Given the description of an element on the screen output the (x, y) to click on. 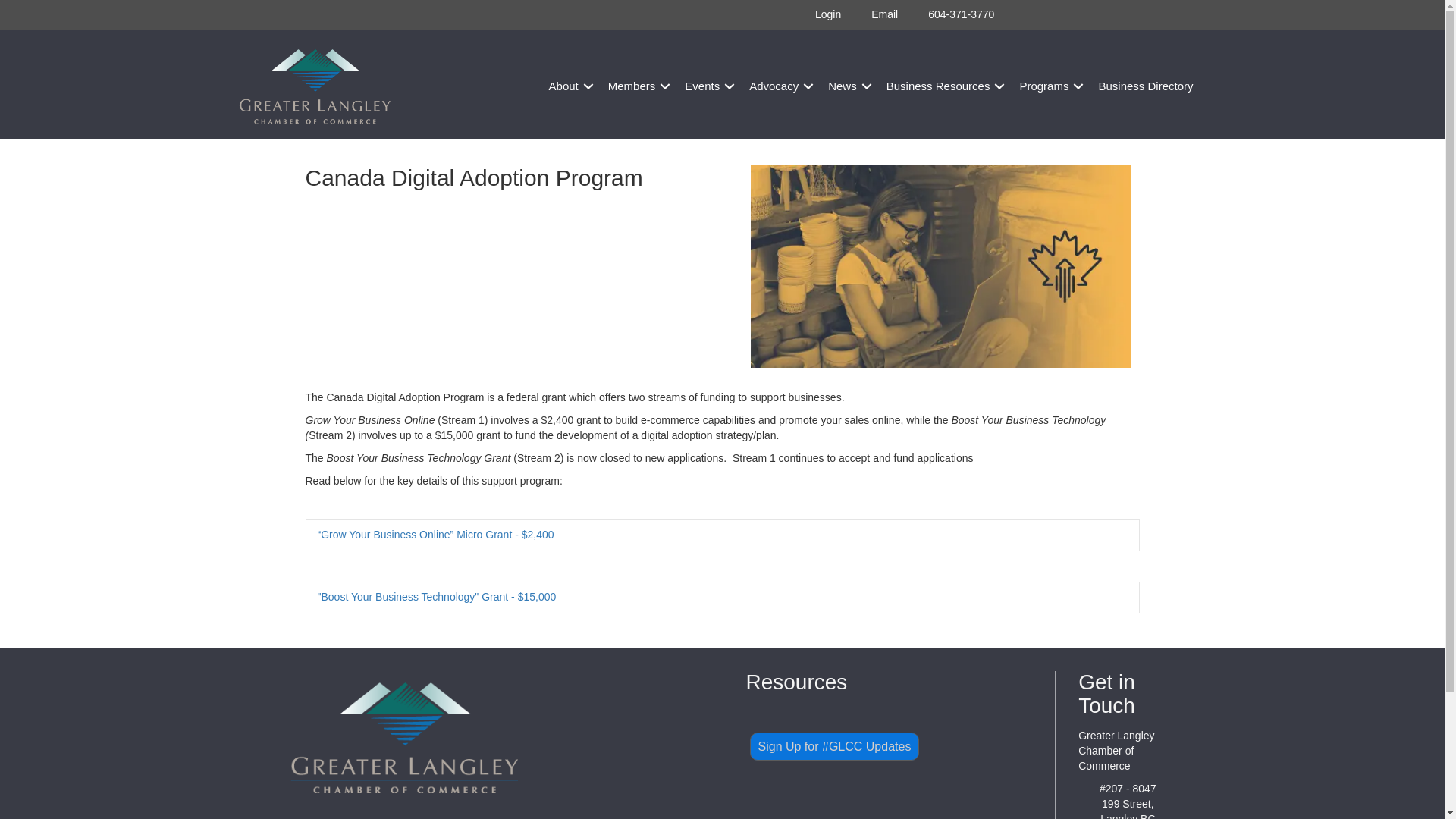
Login (820, 14)
604-371-3770 (953, 14)
Members (636, 85)
Events (707, 85)
News (847, 85)
Email (877, 14)
About (569, 85)
Advocacy (778, 85)
